Given the description of an element on the screen output the (x, y) to click on. 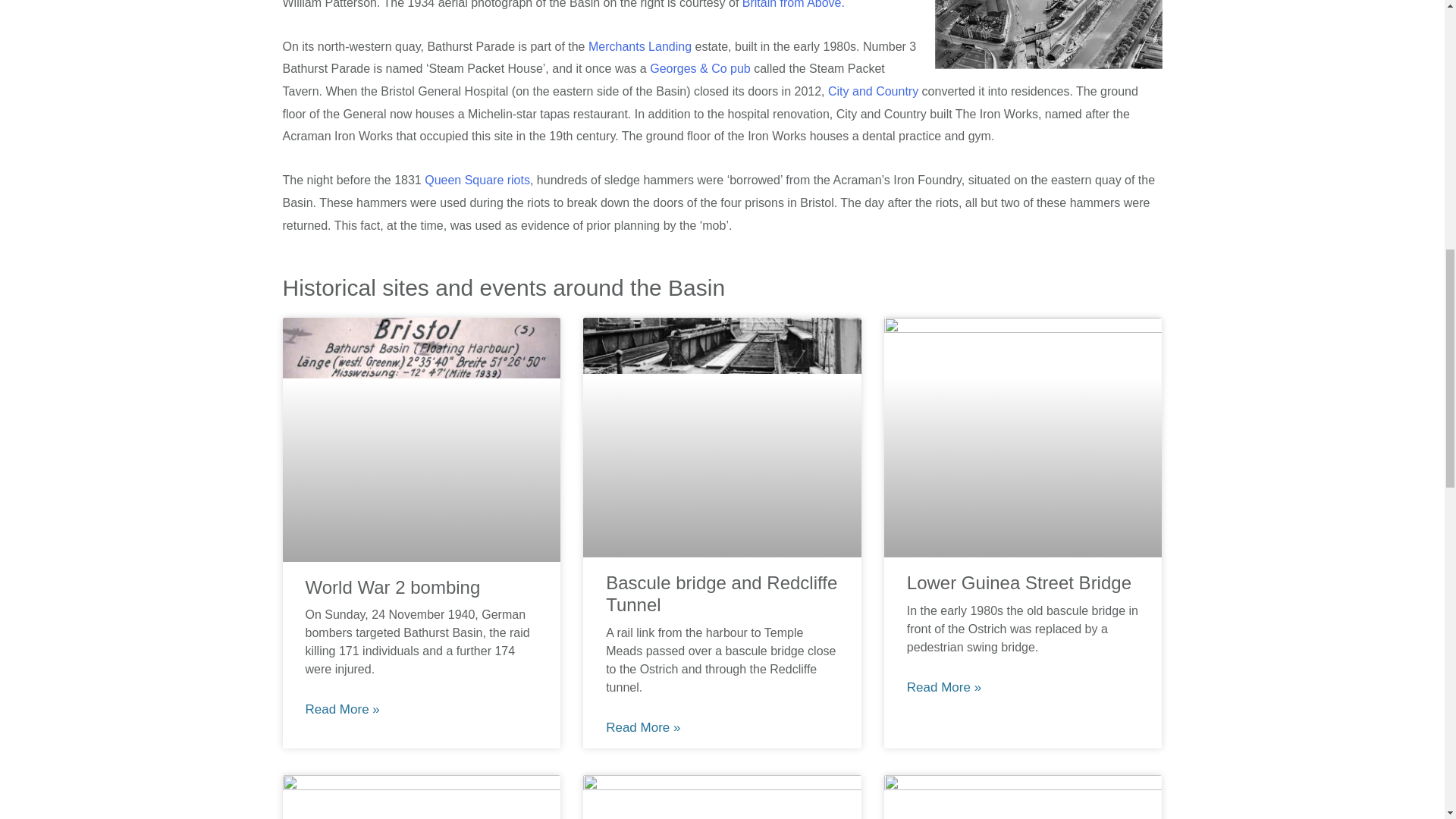
Britain from Above. (793, 4)
City and Country (873, 91)
Queen Square riots (477, 179)
Merchants Landing (639, 46)
